Given the description of an element on the screen output the (x, y) to click on. 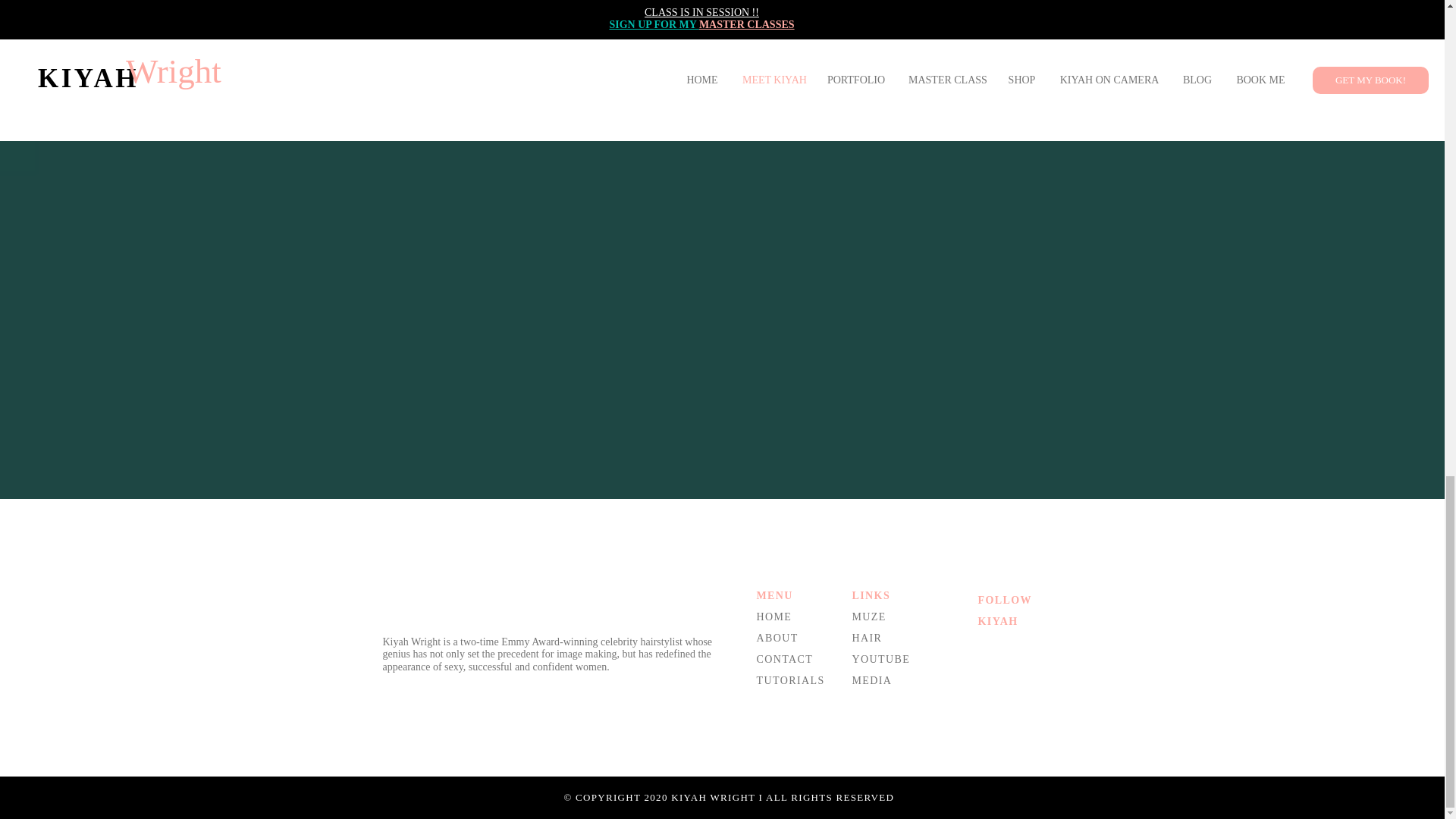
MUZE HAIR (868, 626)
MEDIA (871, 680)
YOUTUBE (881, 659)
ABOUT (777, 637)
HOME (774, 616)
CONTACT (785, 659)
